Given the description of an element on the screen output the (x, y) to click on. 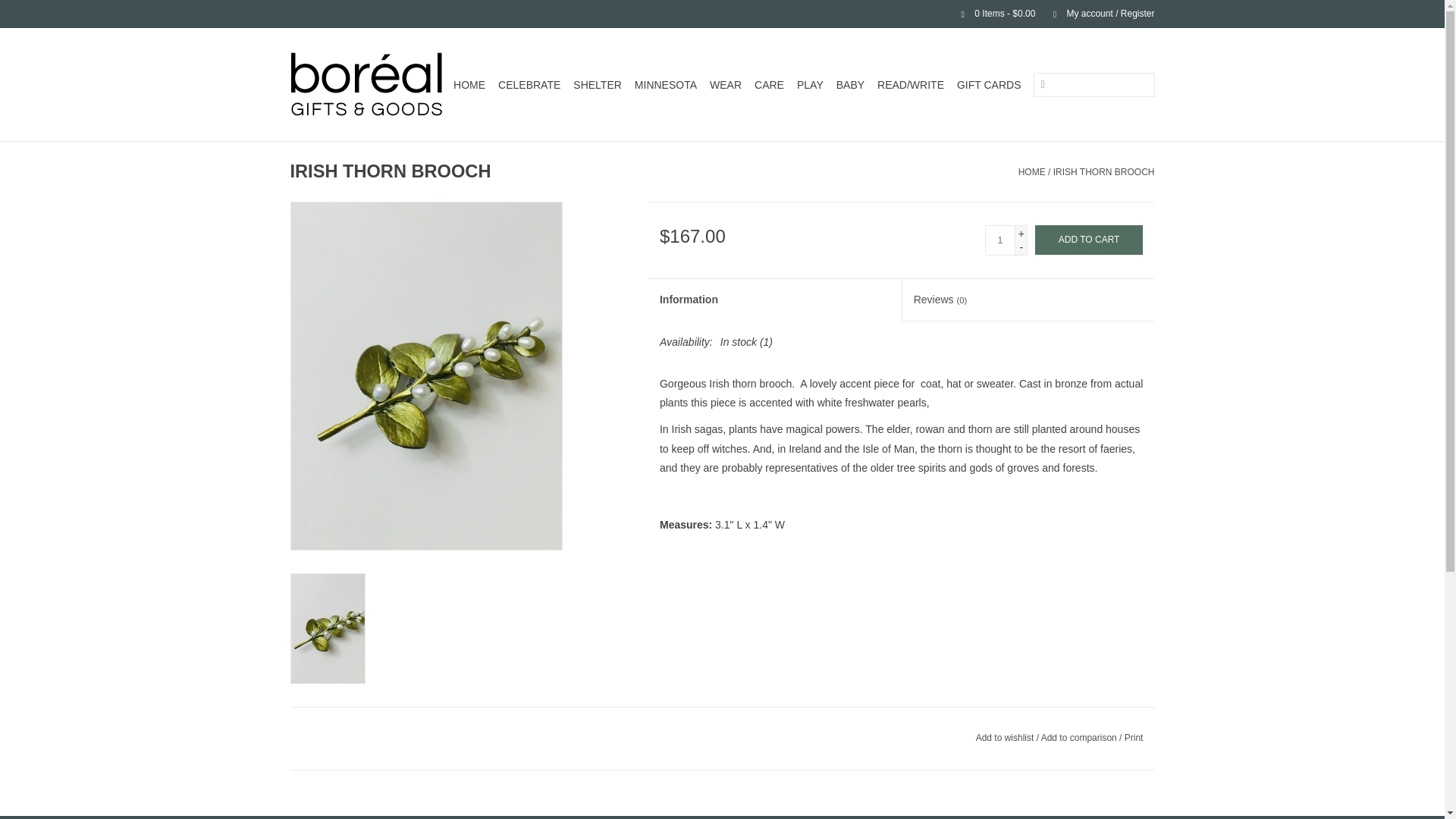
Search (1041, 85)
SHELTER (597, 84)
SHELTER (597, 84)
WEAR (724, 84)
CARE (769, 84)
1 (999, 240)
PLAY (810, 84)
MINNESOTA (665, 84)
Cart (992, 13)
CELEBRATE (528, 84)
WEAR (724, 84)
CELEBRATE (528, 84)
MINNESOTA (665, 84)
BABY (850, 84)
HOME (468, 84)
